Given the description of an element on the screen output the (x, y) to click on. 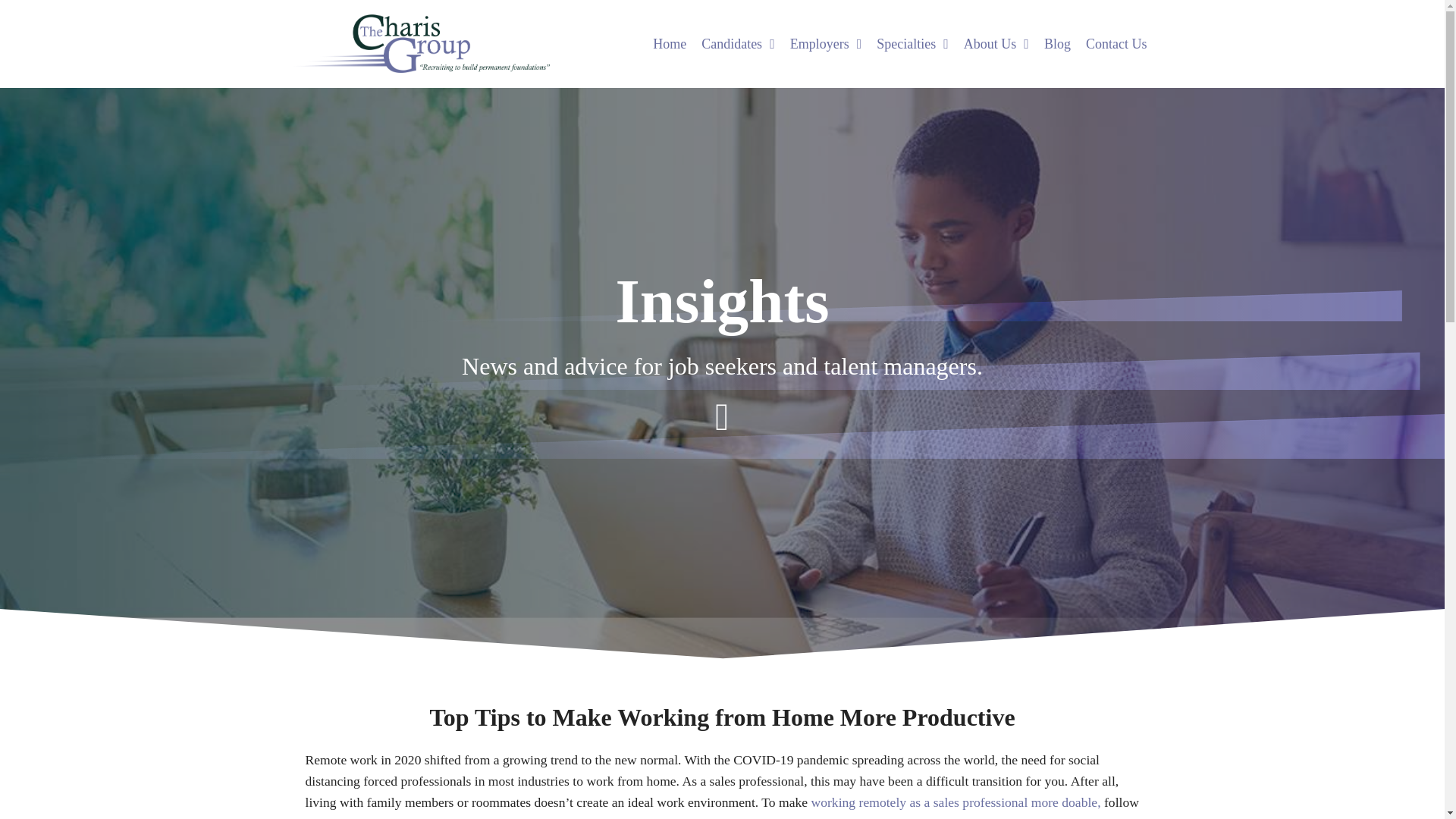
Blog (1057, 33)
Contact Us (1116, 35)
Employers (826, 9)
About Us (996, 28)
Specialties (912, 19)
